Given the description of an element on the screen output the (x, y) to click on. 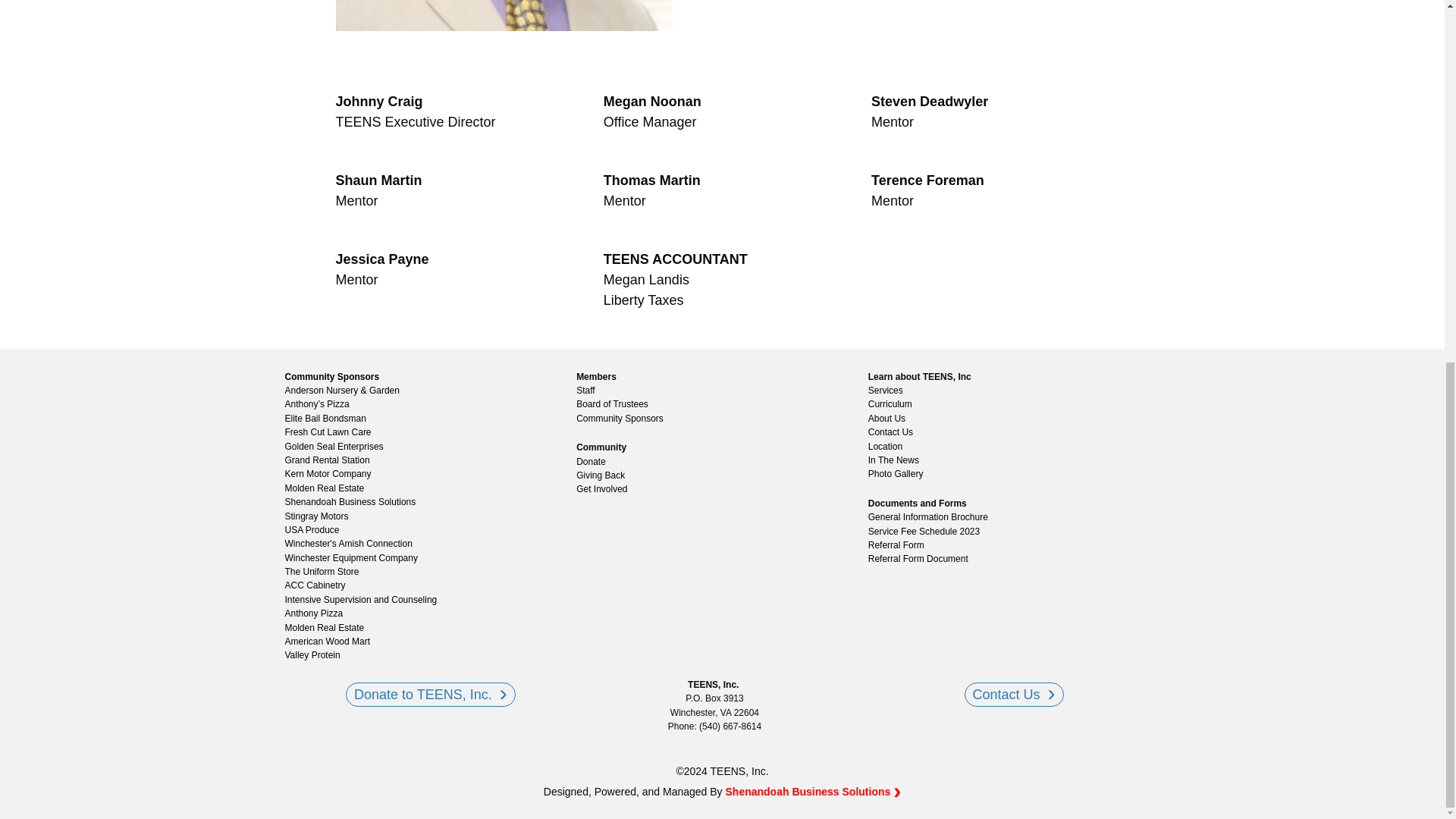
Donate (594, 461)
Intensive Supervision and Counseling (365, 599)
Stingray Motors (320, 515)
Grand Rental Station (331, 460)
Winchester's Amish Connection (352, 543)
Fresh Cut Lawn Care (331, 432)
Valley Protein (316, 655)
About Us (889, 418)
Elite Bail Bondsman (329, 418)
Community Sponsors  (337, 376)
